Given the description of an element on the screen output the (x, y) to click on. 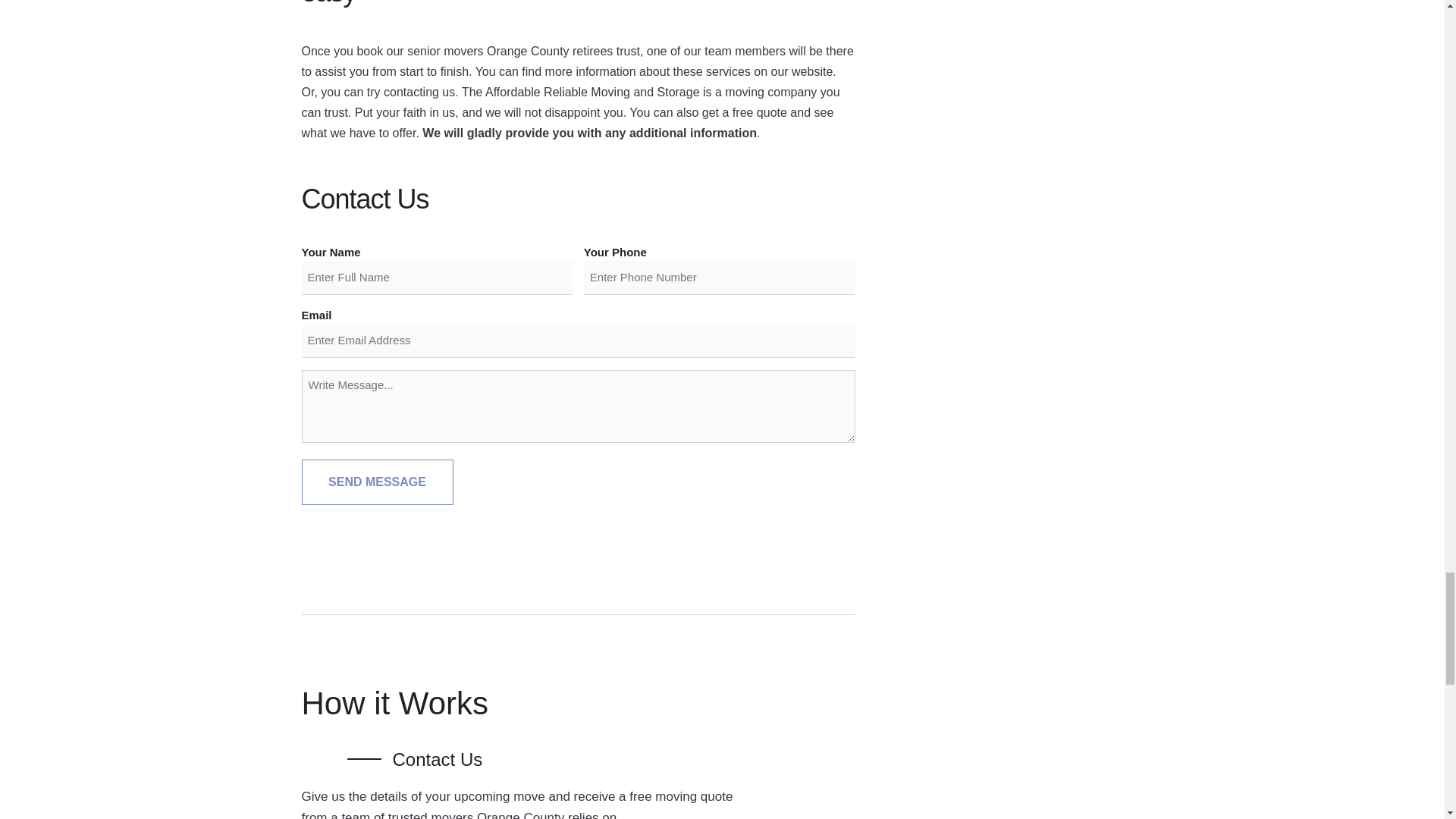
SEND MESSAGE (376, 482)
